Given the description of an element on the screen output the (x, y) to click on. 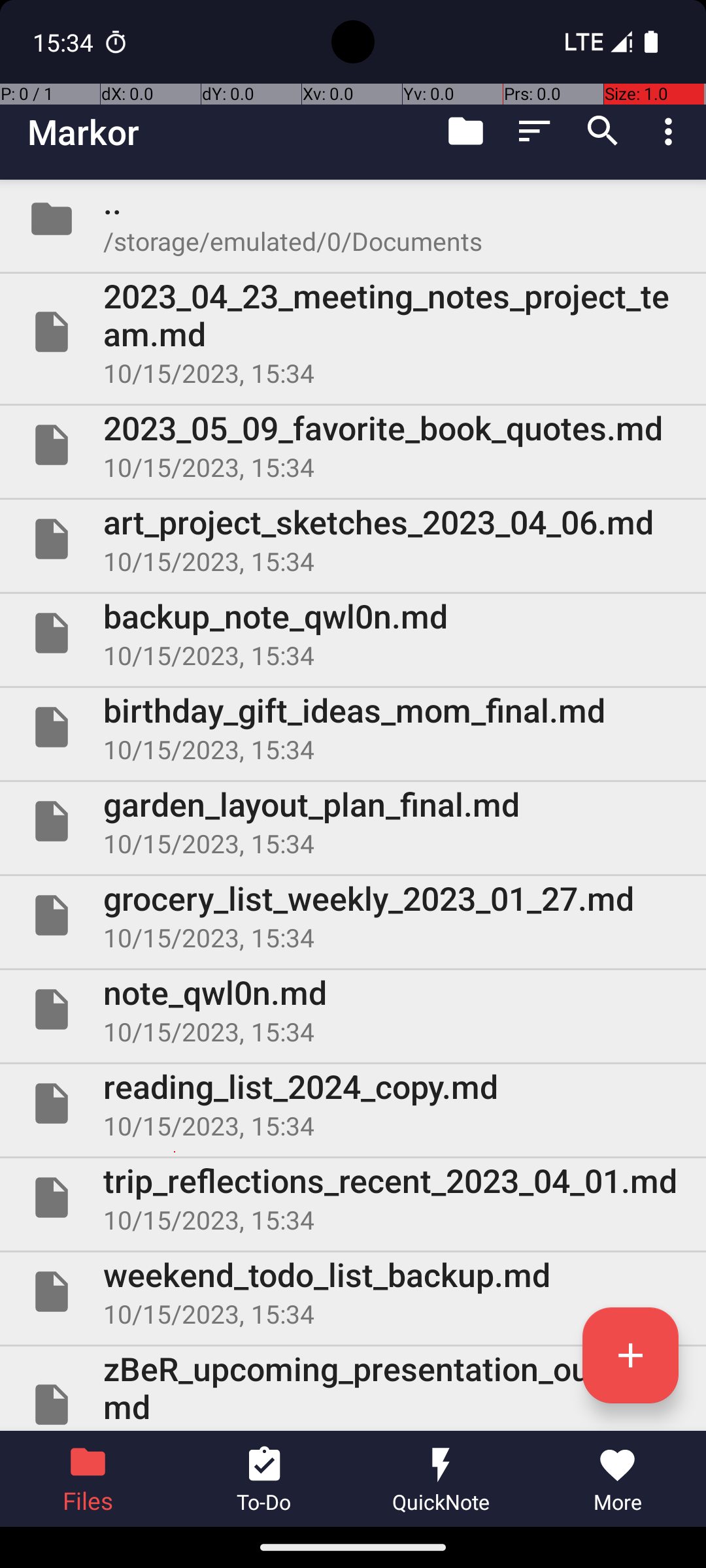
File 2023_04_23_meeting_notes_project_team.md  Element type: android.widget.LinearLayout (353, 331)
File 2023_05_09_favorite_book_quotes.md  Element type: android.widget.LinearLayout (353, 444)
File art_project_sketches_2023_04_06.md  Element type: android.widget.LinearLayout (353, 538)
File backup_note_qwl0n.md  Element type: android.widget.LinearLayout (353, 632)
File birthday_gift_ideas_mom_final.md  Element type: android.widget.LinearLayout (353, 726)
File garden_layout_plan_final.md  Element type: android.widget.LinearLayout (353, 821)
File grocery_list_weekly_2023_01_27.md  Element type: android.widget.LinearLayout (353, 915)
File note_qwl0n.md  Element type: android.widget.LinearLayout (353, 1009)
File reading_list_2024_copy.md  Element type: android.widget.LinearLayout (353, 1103)
File trip_reflections_recent_2023_04_01.md  Element type: android.widget.LinearLayout (353, 1197)
File weekend_todo_list_backup.md  Element type: android.widget.LinearLayout (353, 1291)
File zBeR_upcoming_presentation_outline.md  Element type: android.widget.LinearLayout (353, 1388)
